Given the description of an element on the screen output the (x, y) to click on. 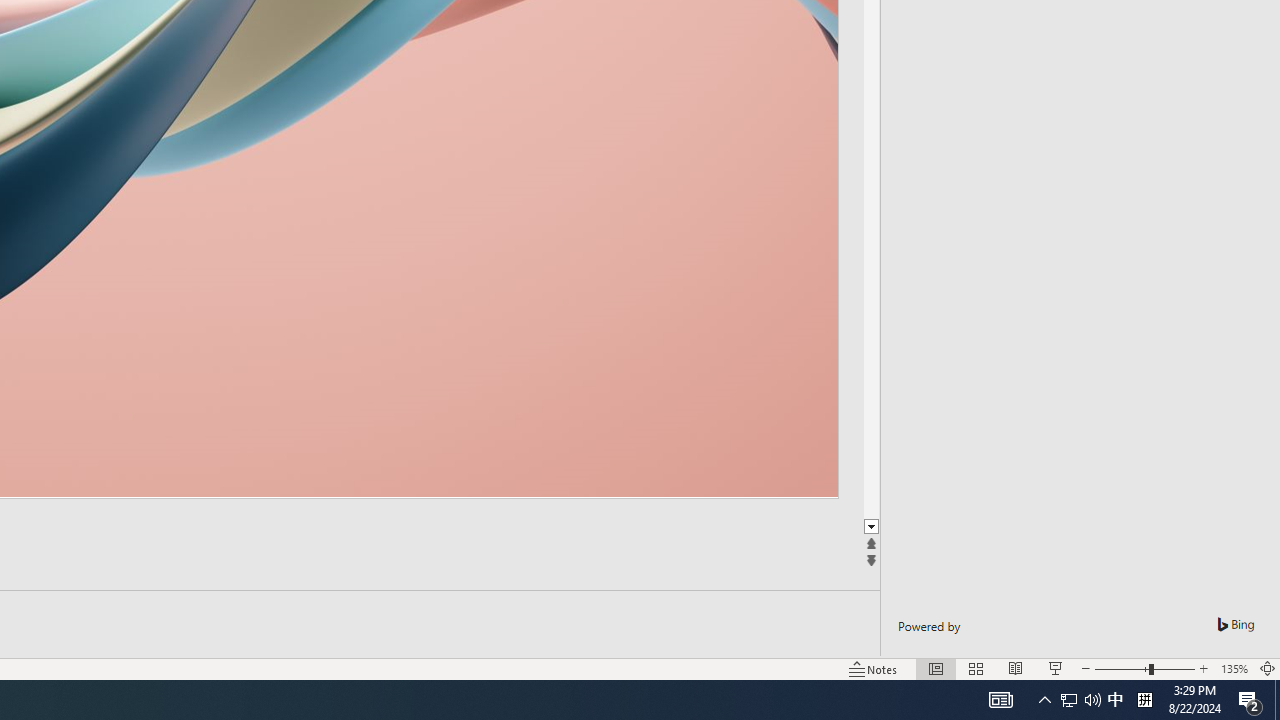
Zoom 135% (1234, 668)
